Given the description of an element on the screen output the (x, y) to click on. 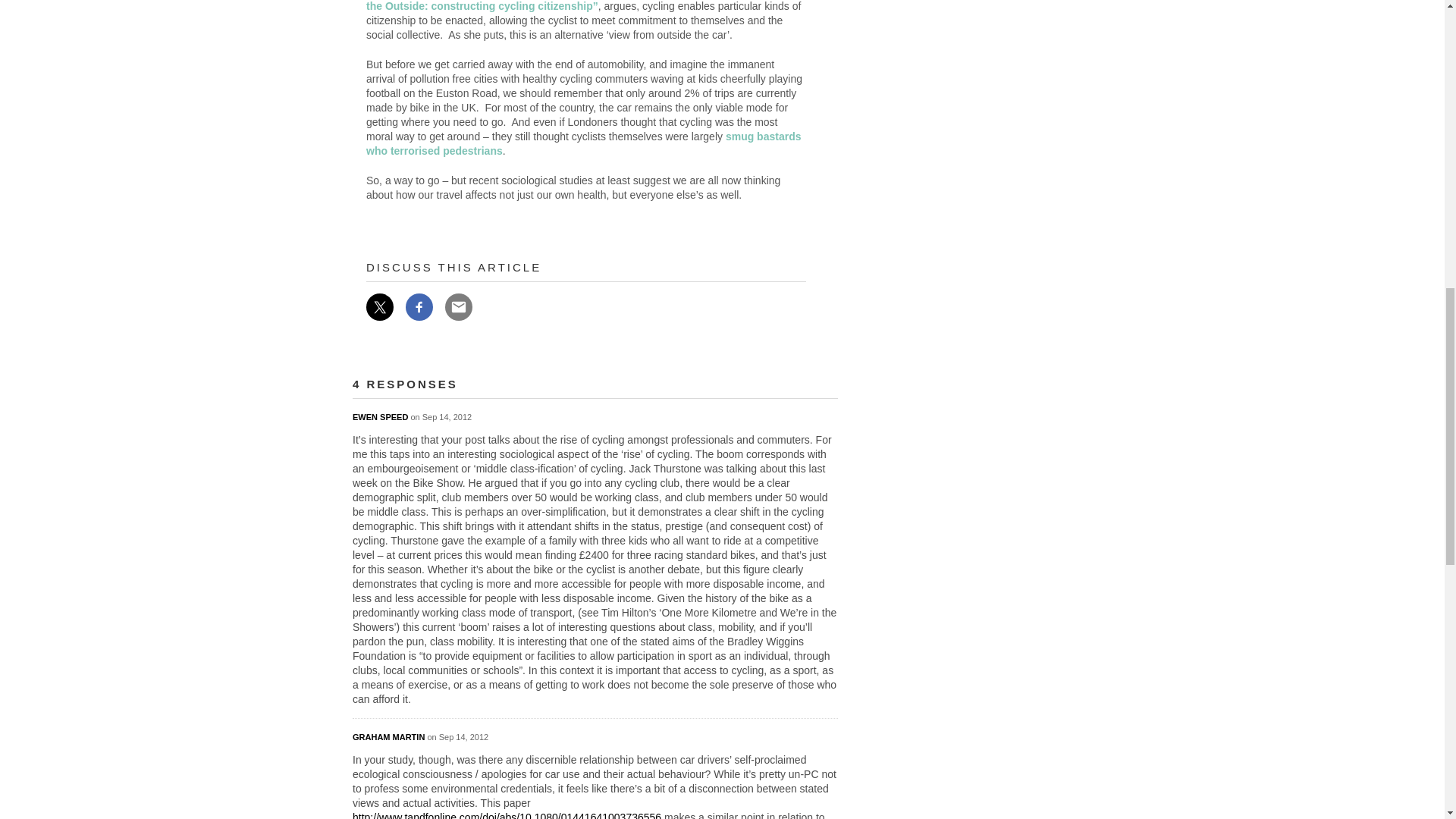
Daily Mail link (583, 143)
EWEN SPEED (379, 416)
smug bastards who terrorised pedestrians (583, 143)
link to project reports (584, 6)
